Given the description of an element on the screen output the (x, y) to click on. 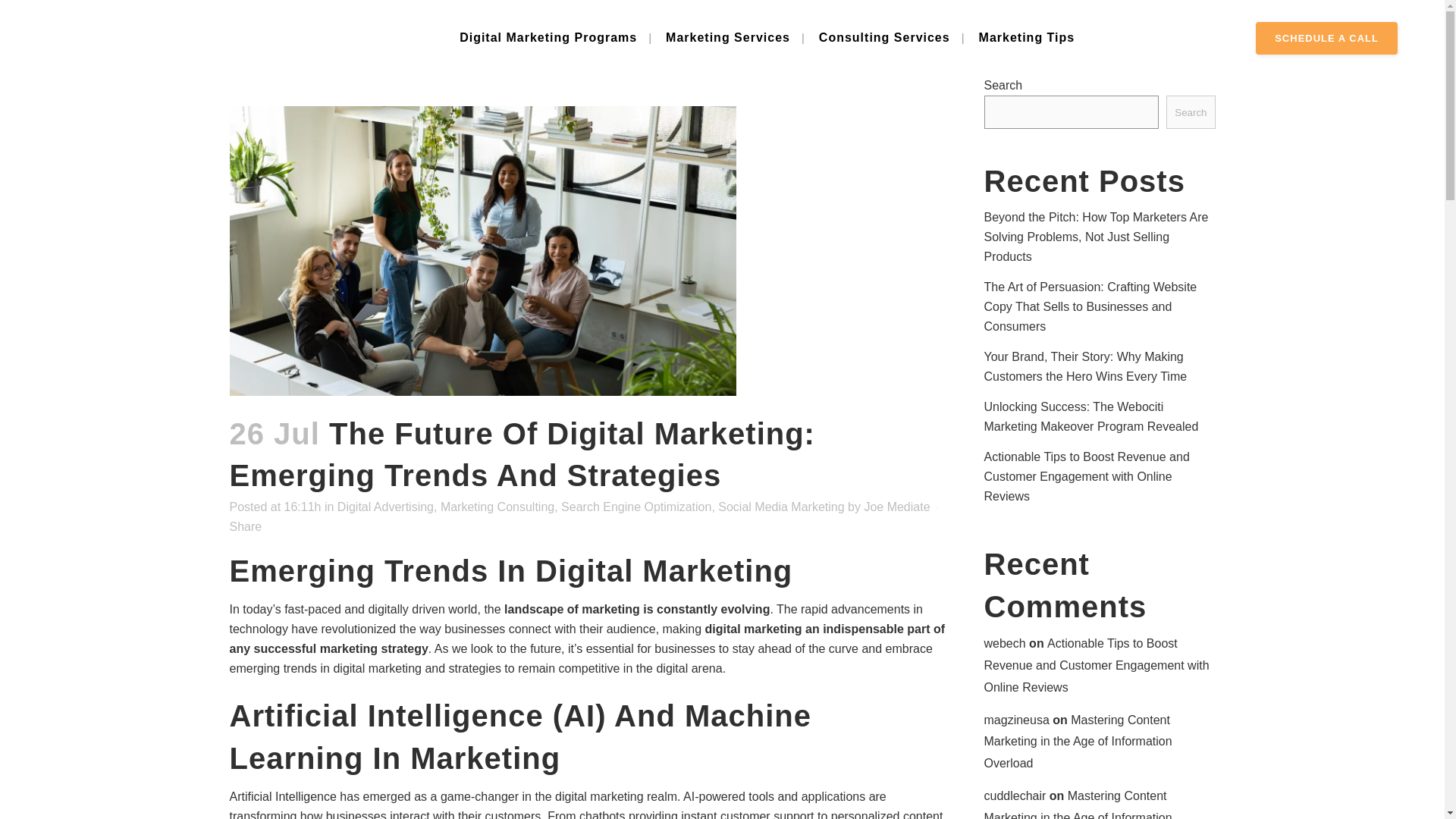
Marketing Tips (1026, 38)
Marketing Services (727, 38)
Digital Marketing Programs (547, 38)
Marketing Services (727, 38)
SCHEDULE A CALL (1326, 37)
Consulting Services (884, 38)
Digital Marketing Programs (547, 38)
